Given the description of an element on the screen output the (x, y) to click on. 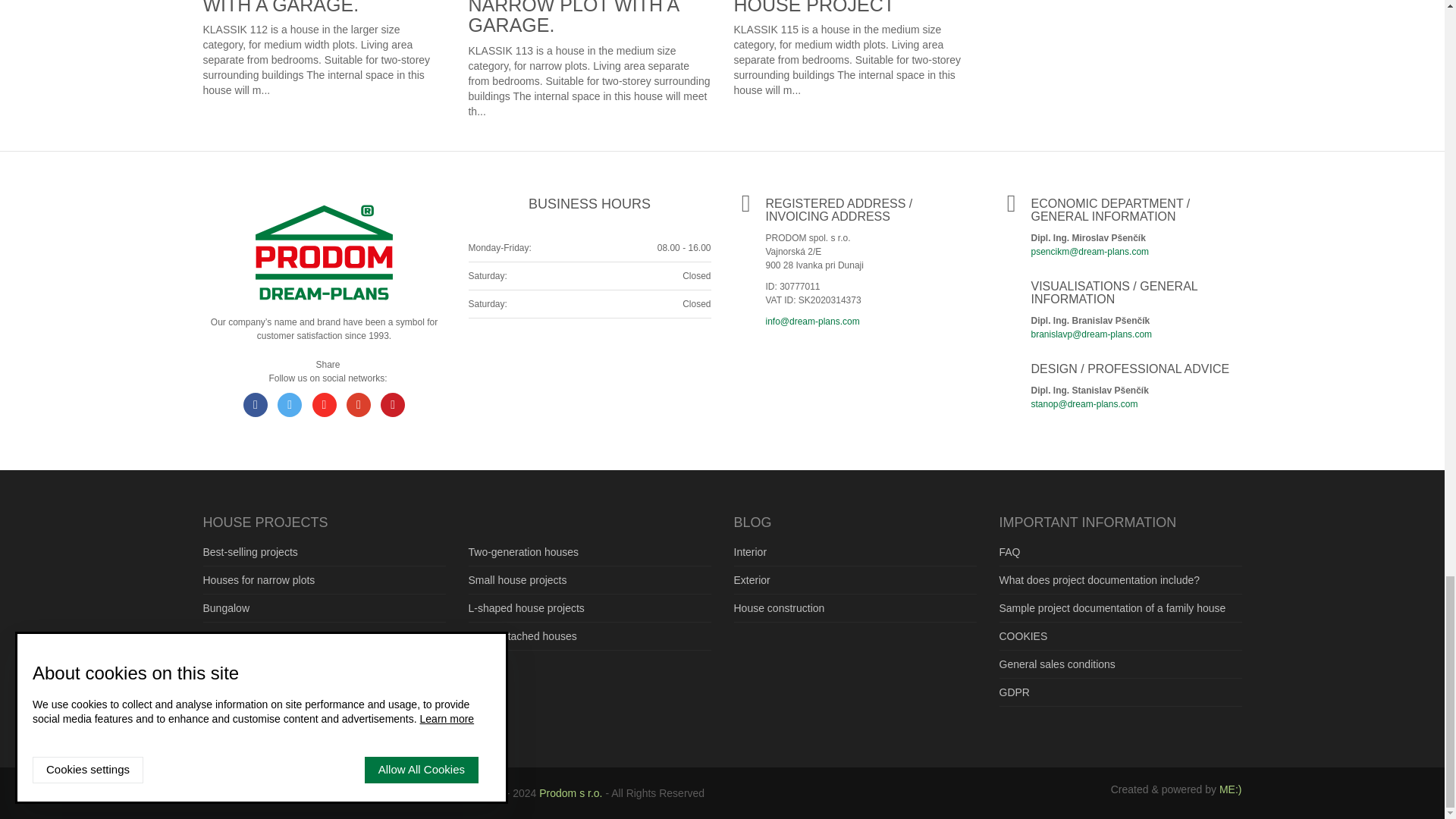
dream-plans.com (323, 252)
